Given the description of an element on the screen output the (x, y) to click on. 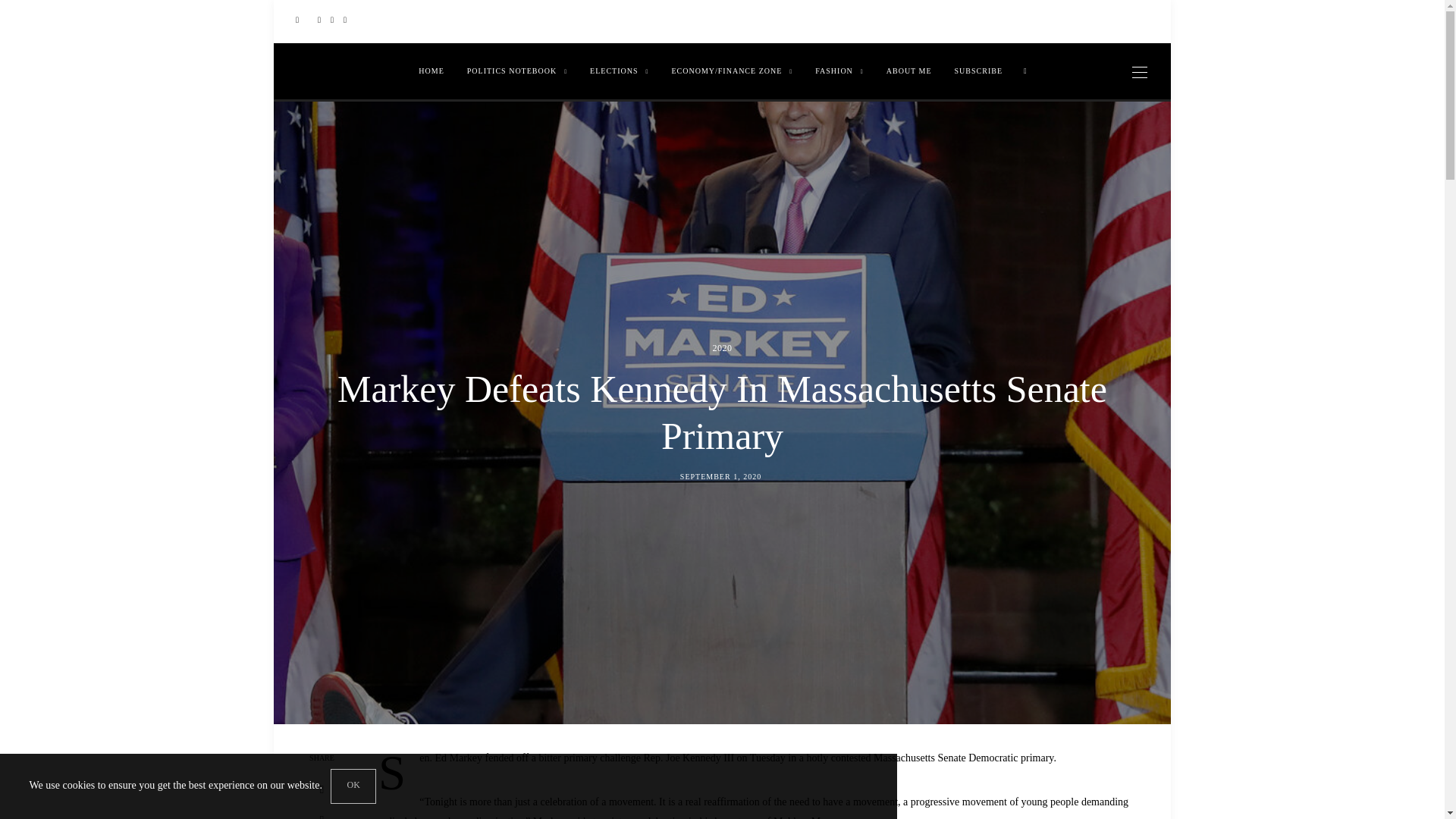
POLITICS NOTEBOOK (516, 71)
HOME (430, 71)
